Given the description of an element on the screen output the (x, y) to click on. 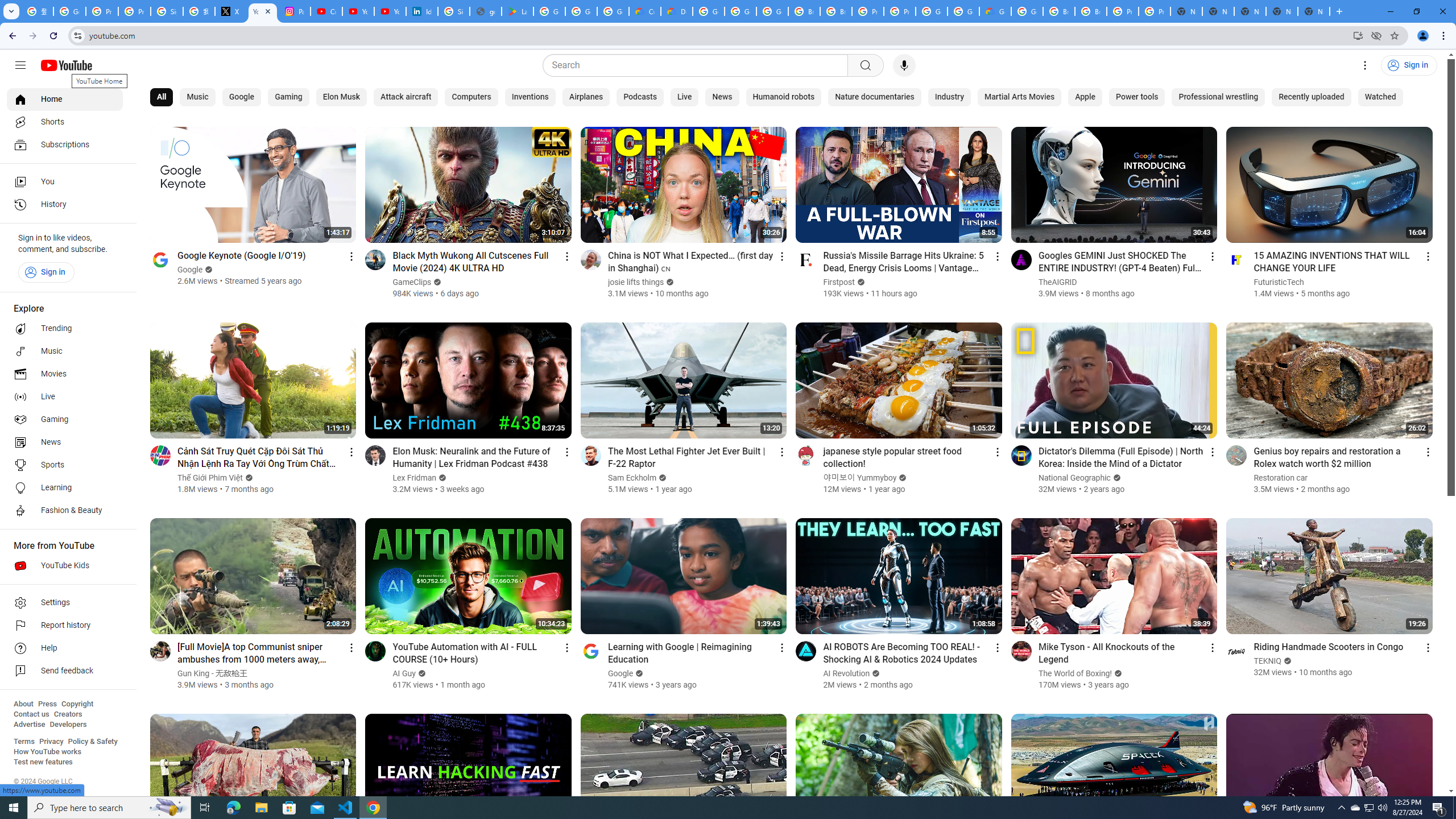
Install YouTube (1358, 35)
Computers (470, 97)
Firstpost (839, 282)
Sports (64, 464)
Developers (68, 724)
Copyright (77, 703)
News (64, 441)
History (64, 204)
Recently uploaded (1311, 97)
